Given the description of an element on the screen output the (x, y) to click on. 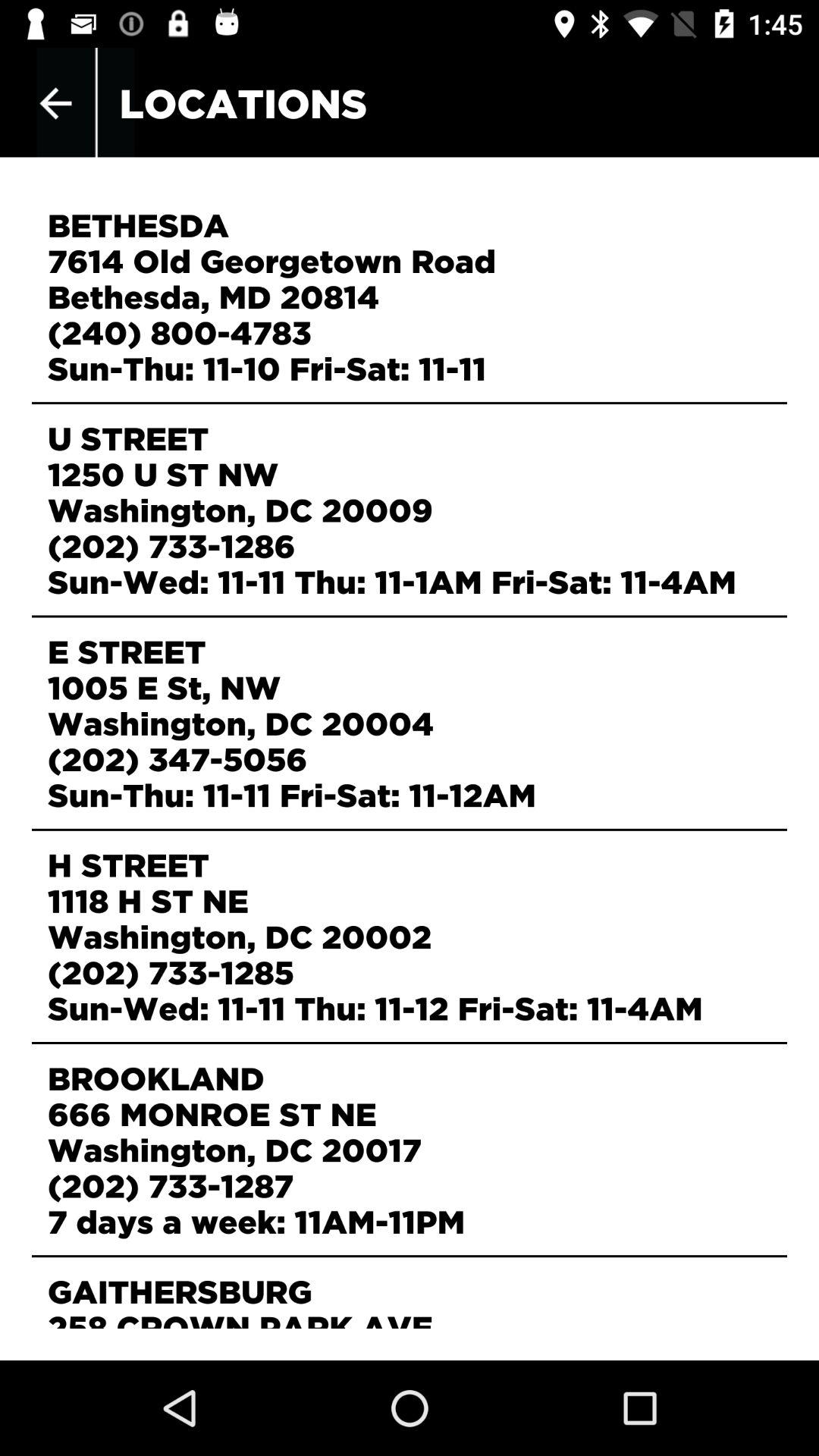
click the item above bethesda icon (55, 103)
